Given the description of an element on the screen output the (x, y) to click on. 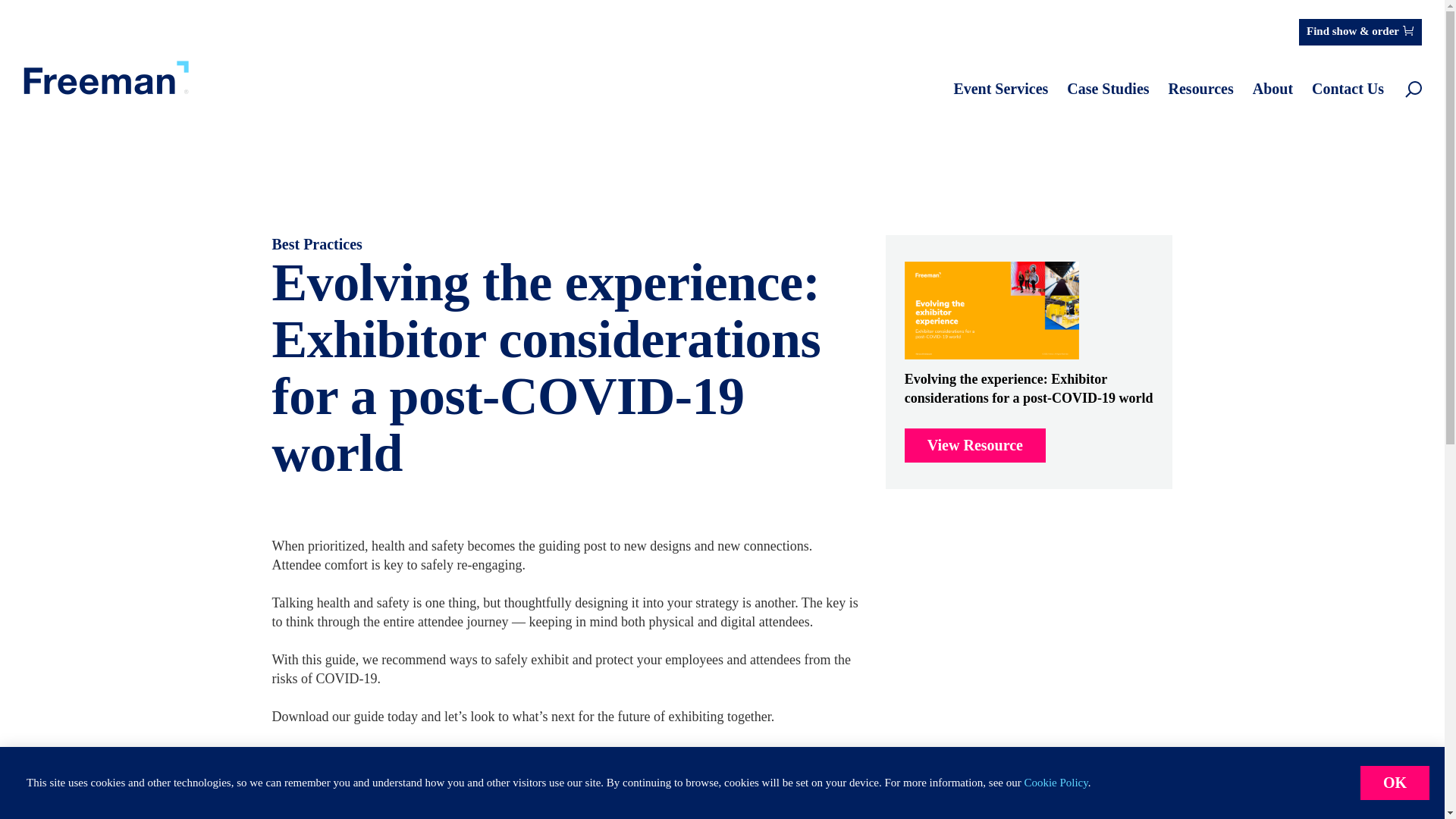
Event Services (1000, 89)
Case Studies (1107, 89)
freeman-icon-cart (1408, 30)
Contact Us (1347, 89)
Resources (1201, 89)
About (1272, 89)
